Given the description of an element on the screen output the (x, y) to click on. 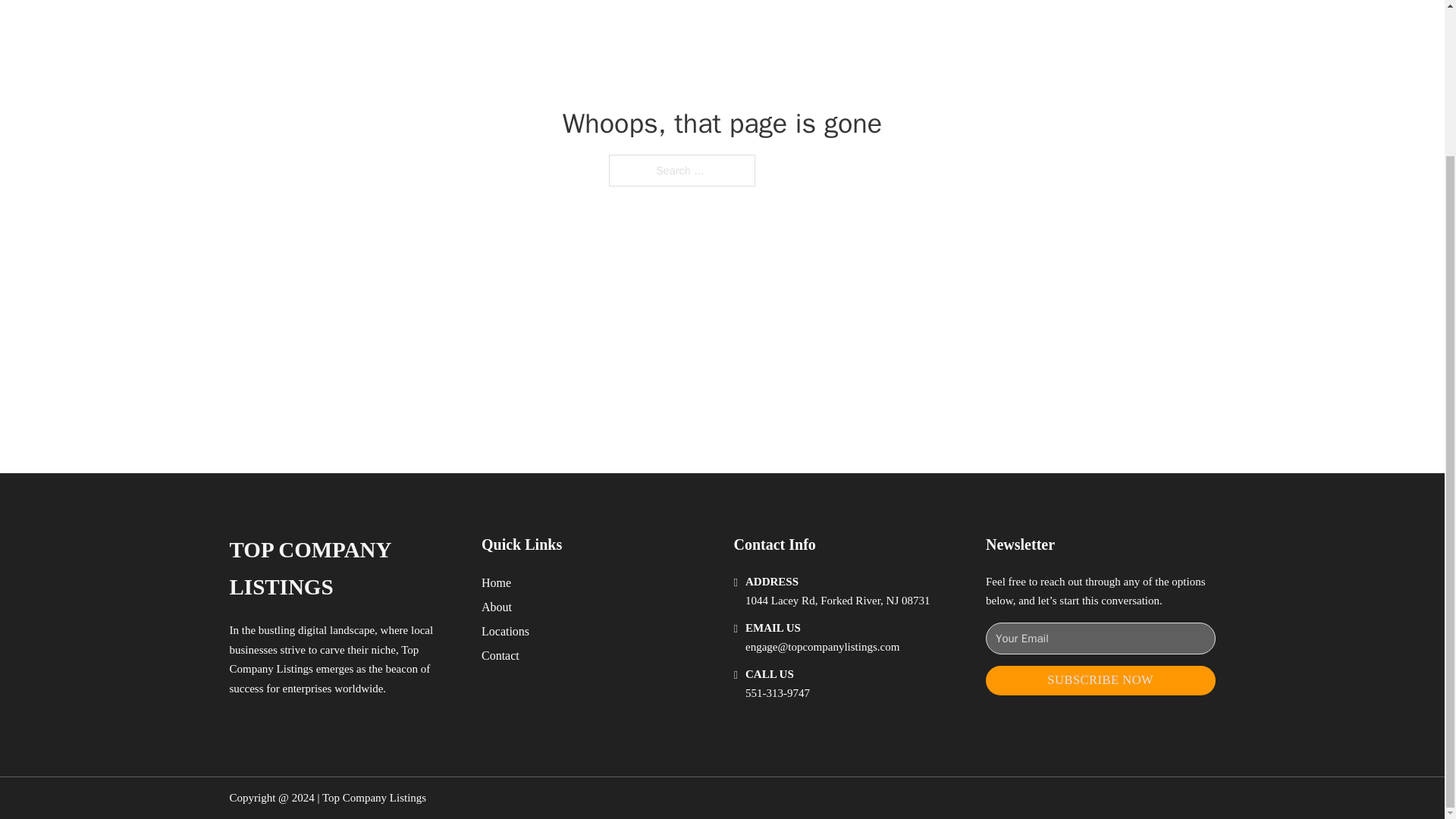
About (496, 607)
551-313-9747 (777, 693)
TOP COMPANY LISTINGS (343, 568)
Locations (505, 630)
Home (496, 582)
Contact (500, 655)
SUBSCRIBE NOW (1100, 680)
